Given the description of an element on the screen output the (x, y) to click on. 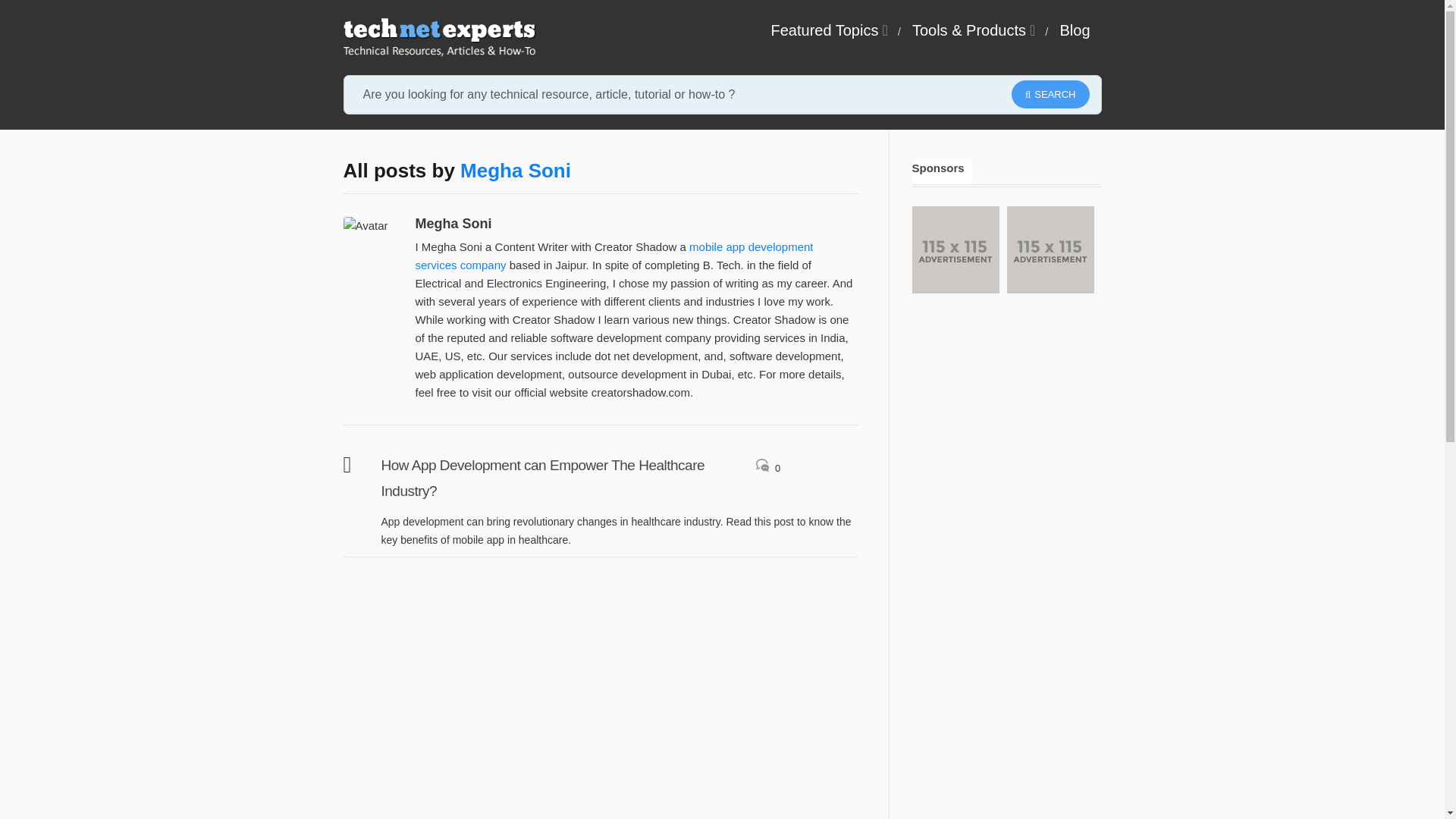
TechNetExperts (438, 37)
Featured Topics (827, 30)
Megha Soni (515, 169)
